Given the description of an element on the screen output the (x, y) to click on. 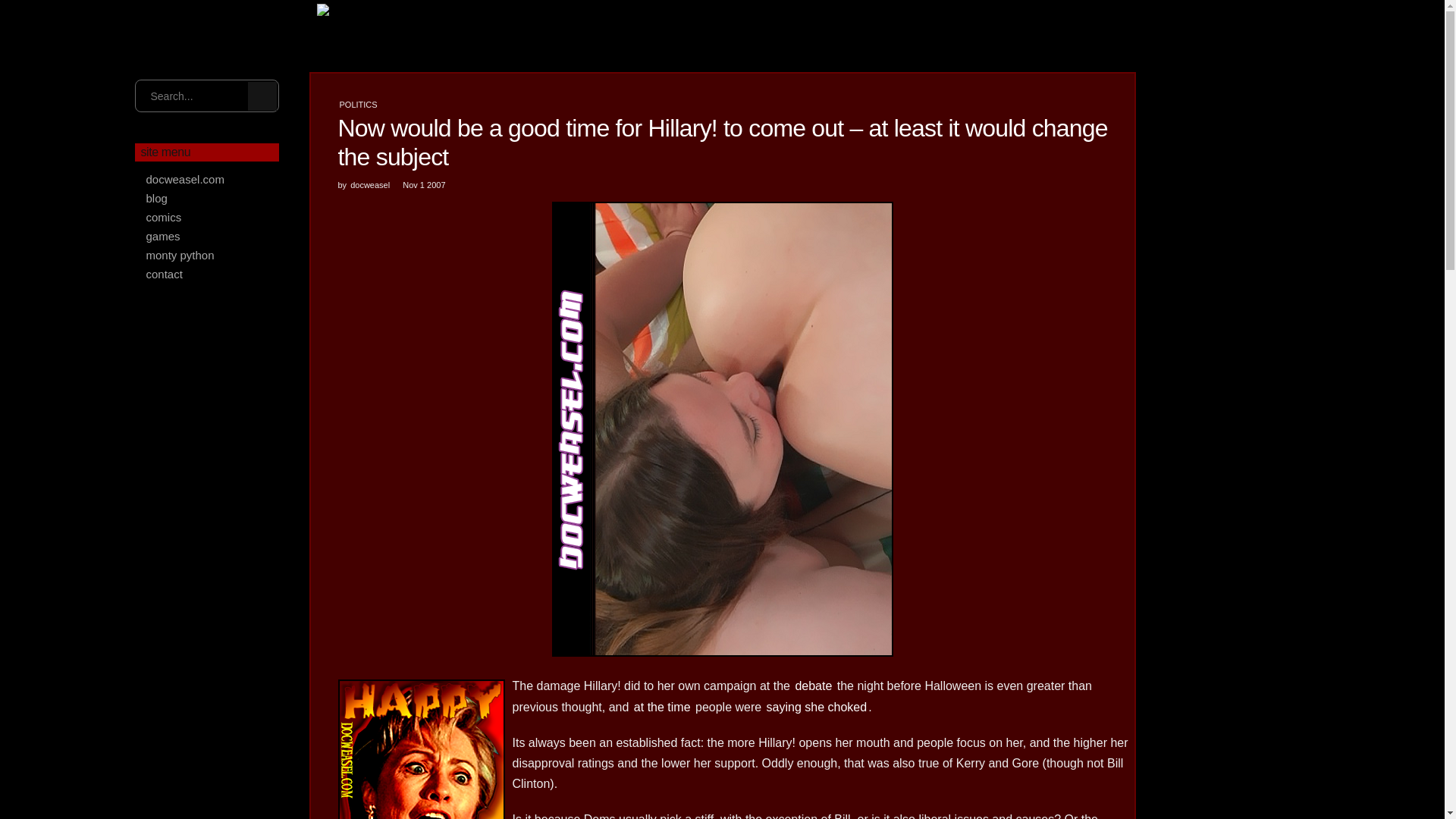
docweasel.com (207, 179)
9:08 am (423, 184)
POLITICS (357, 103)
Posts by docweasel (370, 184)
View all posts in politics (357, 103)
Nov 1 2007 (423, 184)
contact (207, 273)
at the time (662, 707)
saying she choked (817, 707)
monty python (207, 254)
